Given the description of an element on the screen output the (x, y) to click on. 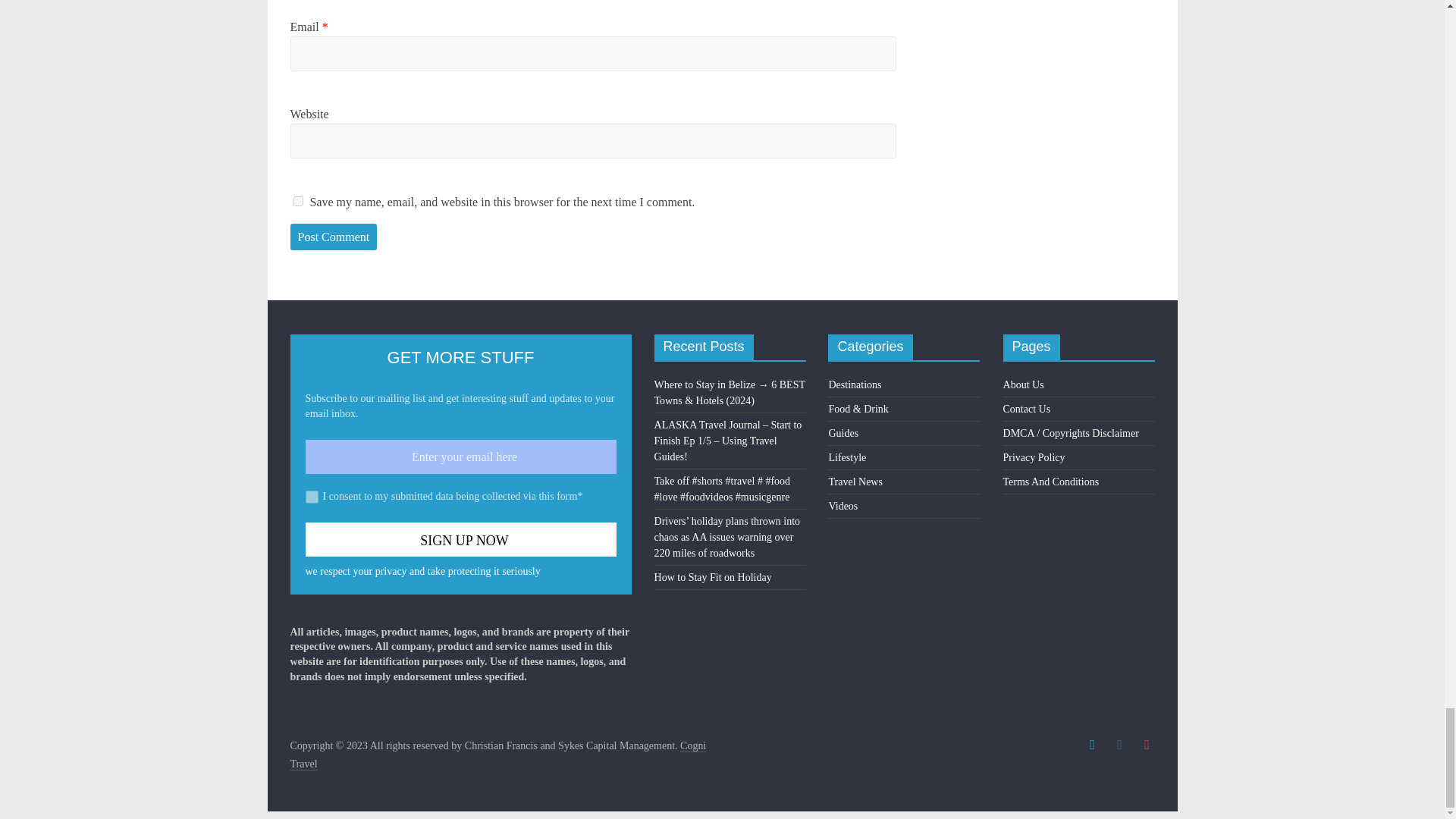
on (310, 496)
yes (297, 201)
Sign Up Now (459, 539)
Post Comment (333, 236)
